Given the description of an element on the screen output the (x, y) to click on. 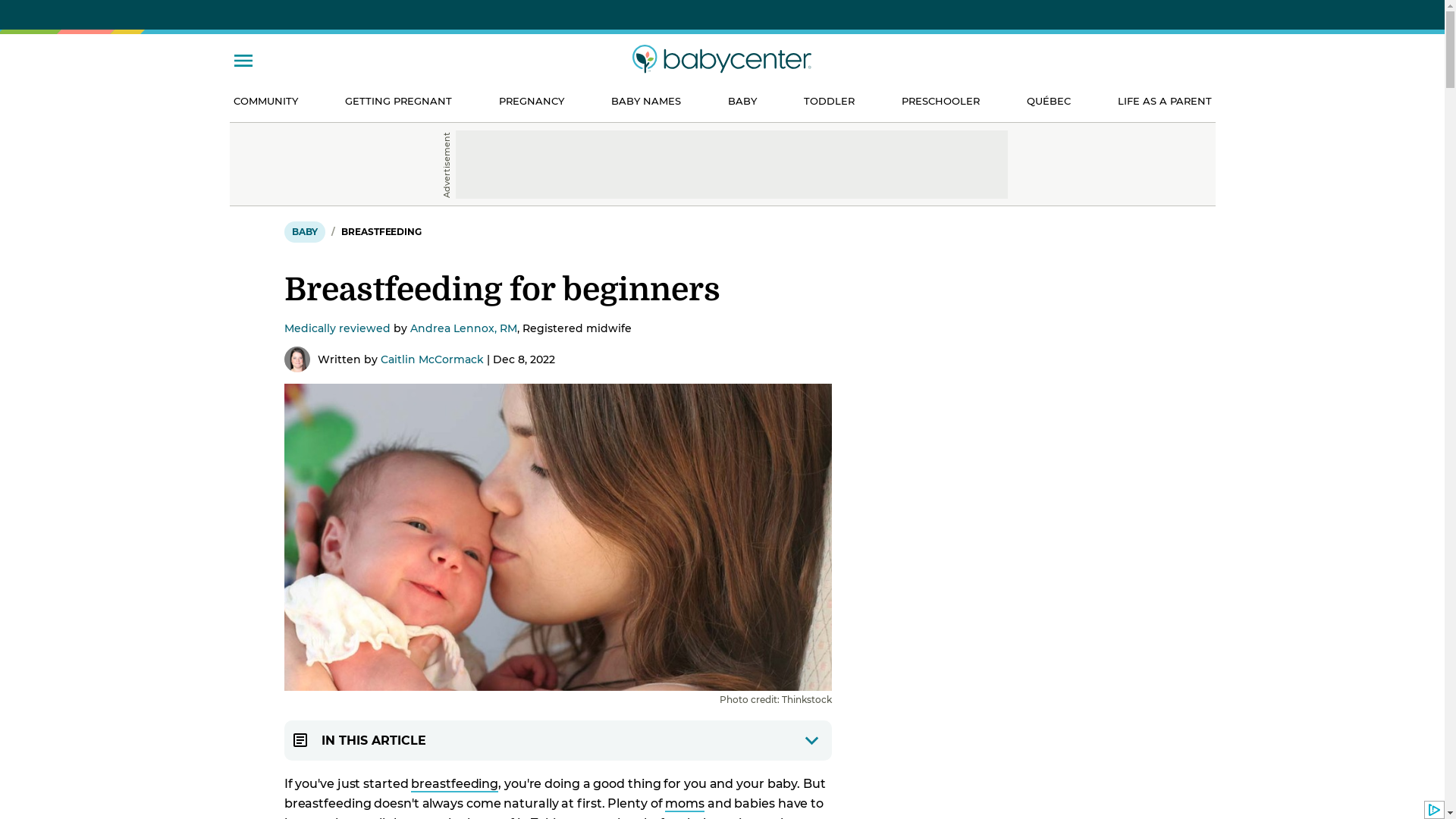
moms Element type: text (684, 804)
TODDLER Element type: text (828, 101)
BABY NAMES Element type: text (645, 101)
breastfeeding Element type: text (454, 784)
GETTING PREGNANT Element type: text (397, 101)
BABY Element type: text (742, 101)
LIFE AS A PARENT Element type: text (1164, 101)
COMMUNITY Element type: text (265, 101)
Andrea Lennox, RM Element type: text (463, 328)
BABY Element type: text (304, 231)
PREGNANCY Element type: text (531, 101)
Caitlin McCormack Element type: text (431, 359)
PRESCHOOLER Element type: text (939, 101)
IN THIS ARTICLE Element type: text (558, 740)
BREASTFEEDING Element type: text (381, 231)
Medically reviewed Element type: text (337, 328)
